Given the description of an element on the screen output the (x, y) to click on. 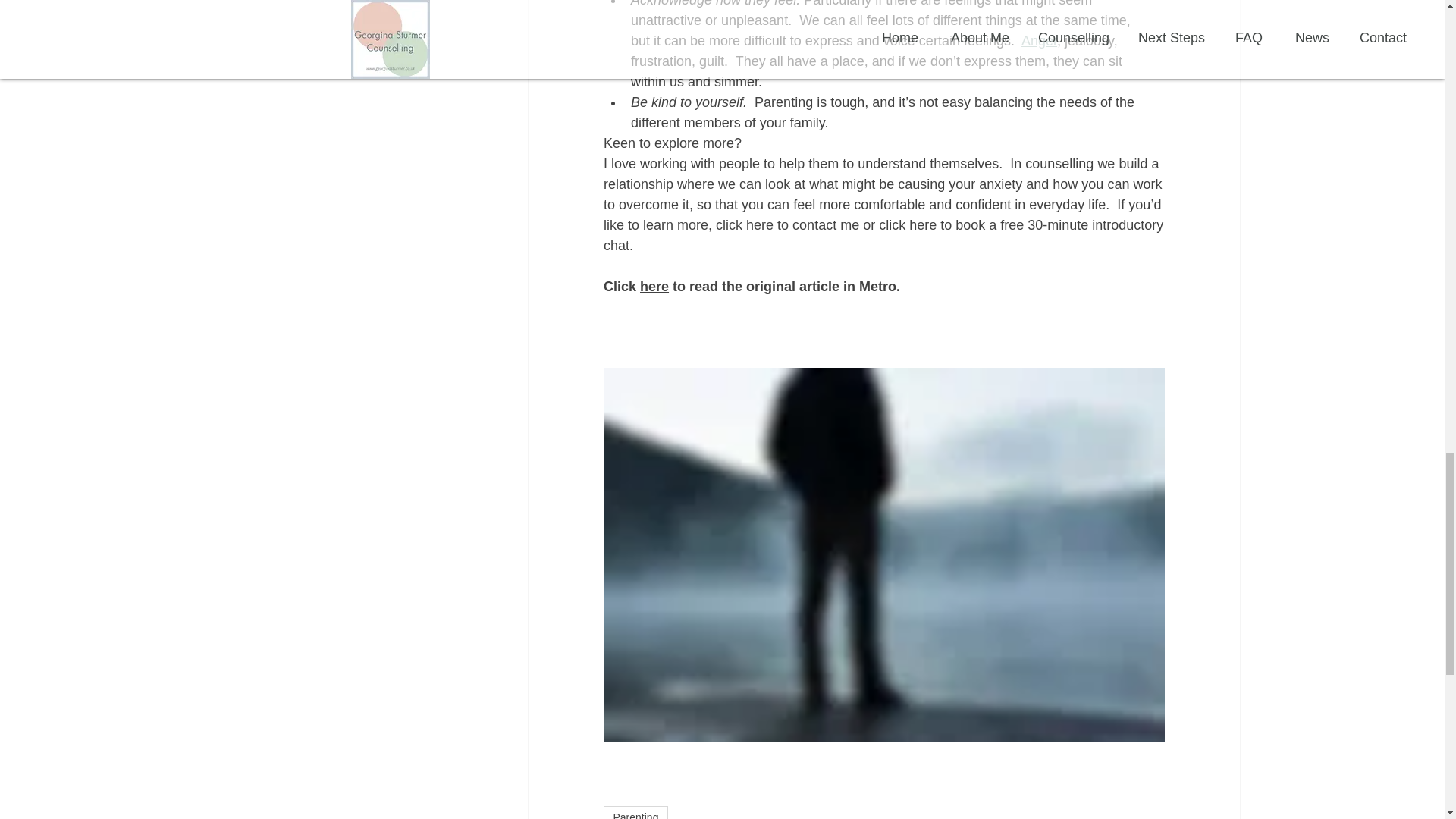
Parenting (636, 812)
Anger (1038, 40)
here (922, 224)
here (654, 286)
here (759, 224)
